Given the description of an element on the screen output the (x, y) to click on. 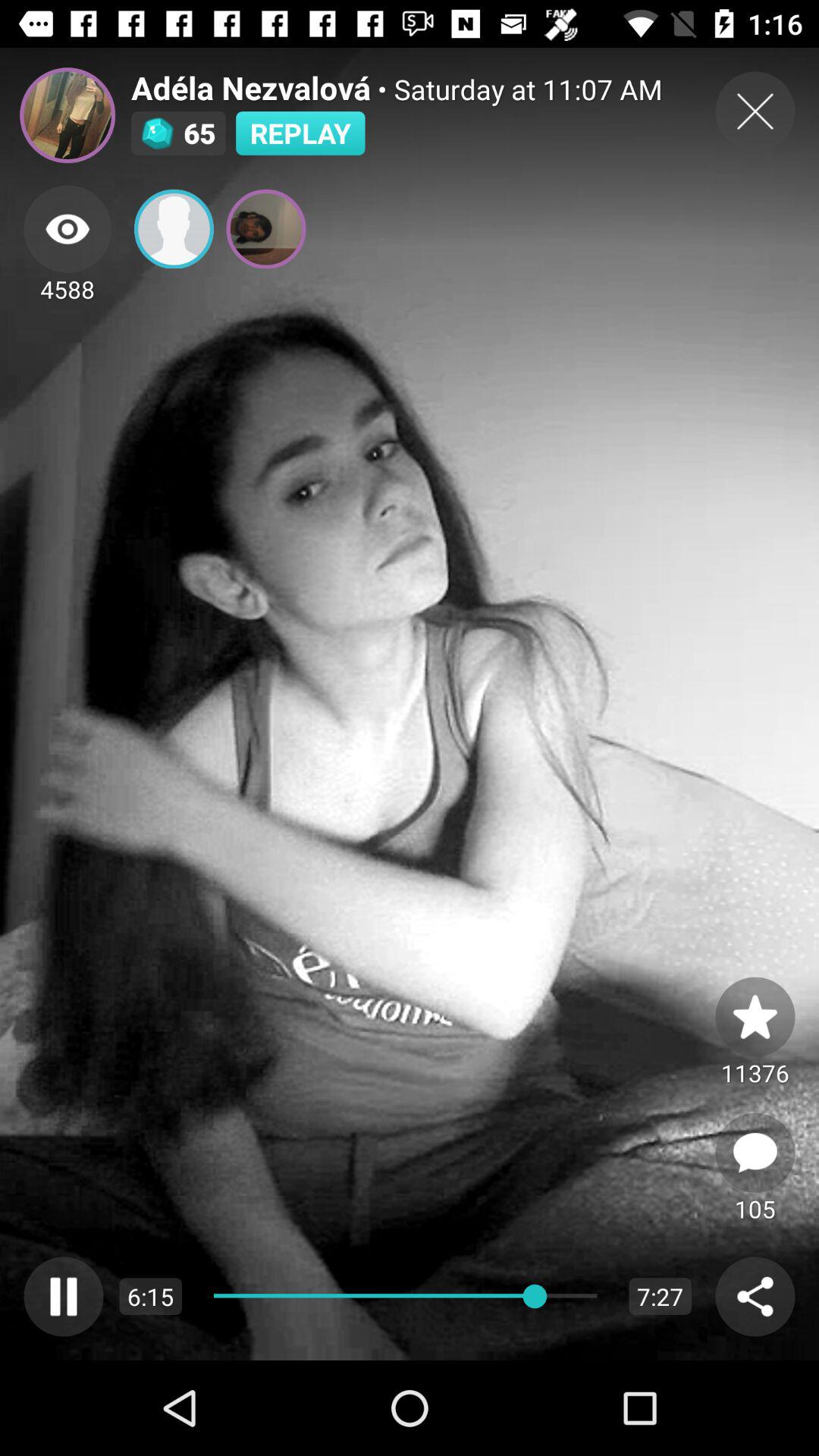
give a star to the photo (755, 1016)
